Given the description of an element on the screen output the (x, y) to click on. 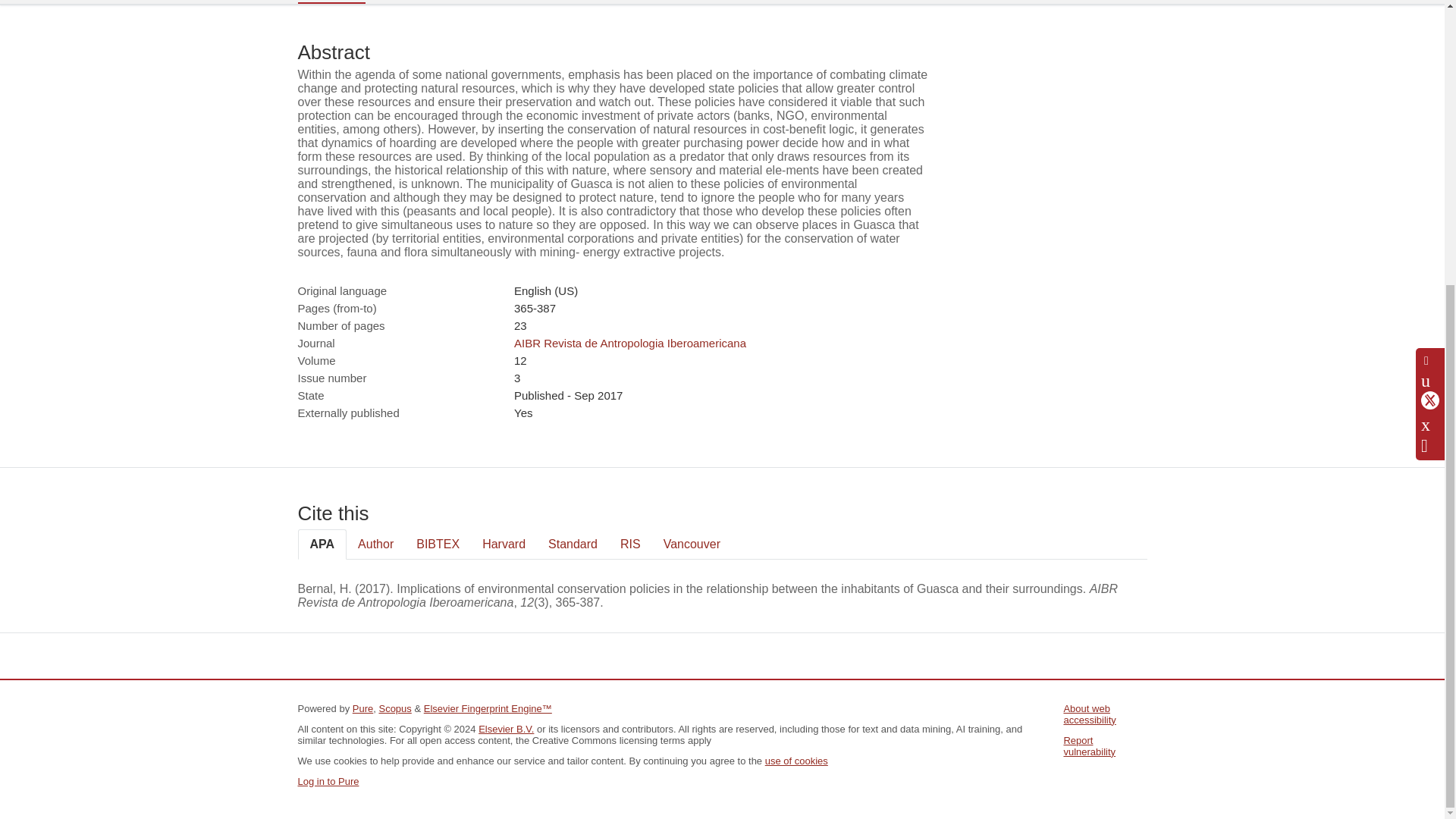
About web accessibility (1088, 713)
Scopus (394, 708)
AIBR Revista de Antropologia Iberoamericana (629, 342)
use of cookies (796, 760)
Report vulnerability (1088, 745)
Overview (331, 2)
Elsevier B.V. (506, 728)
Log in to Pure (327, 781)
Pure (362, 708)
